Given the description of an element on the screen output the (x, y) to click on. 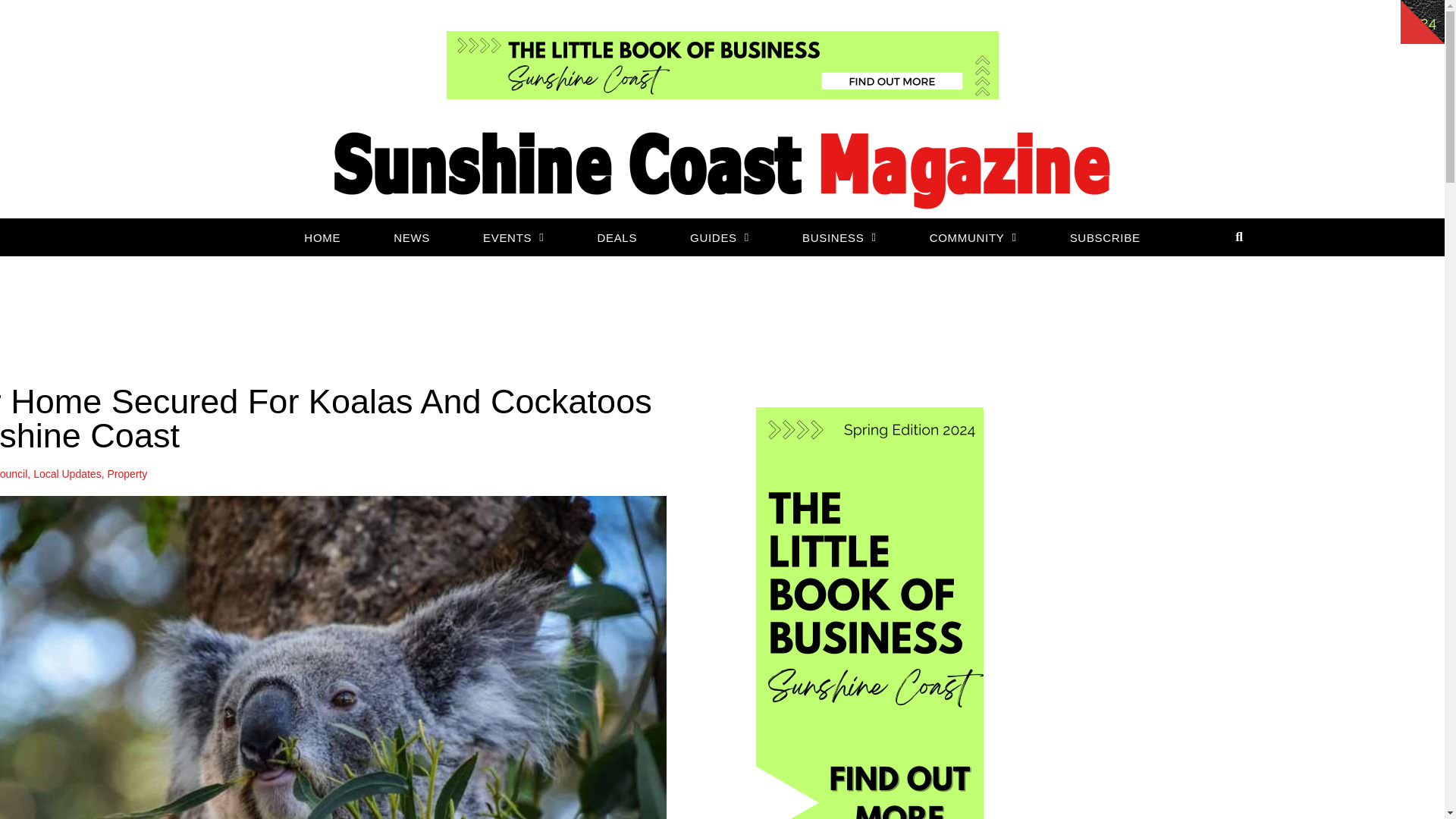
COMMUNITY (973, 236)
GUIDES (718, 236)
HOME (321, 236)
NEWS (411, 236)
SUBSCRIBE (1104, 236)
DEALS (616, 236)
EVENTS (513, 236)
BUSINESS (838, 236)
